Given the description of an element on the screen output the (x, y) to click on. 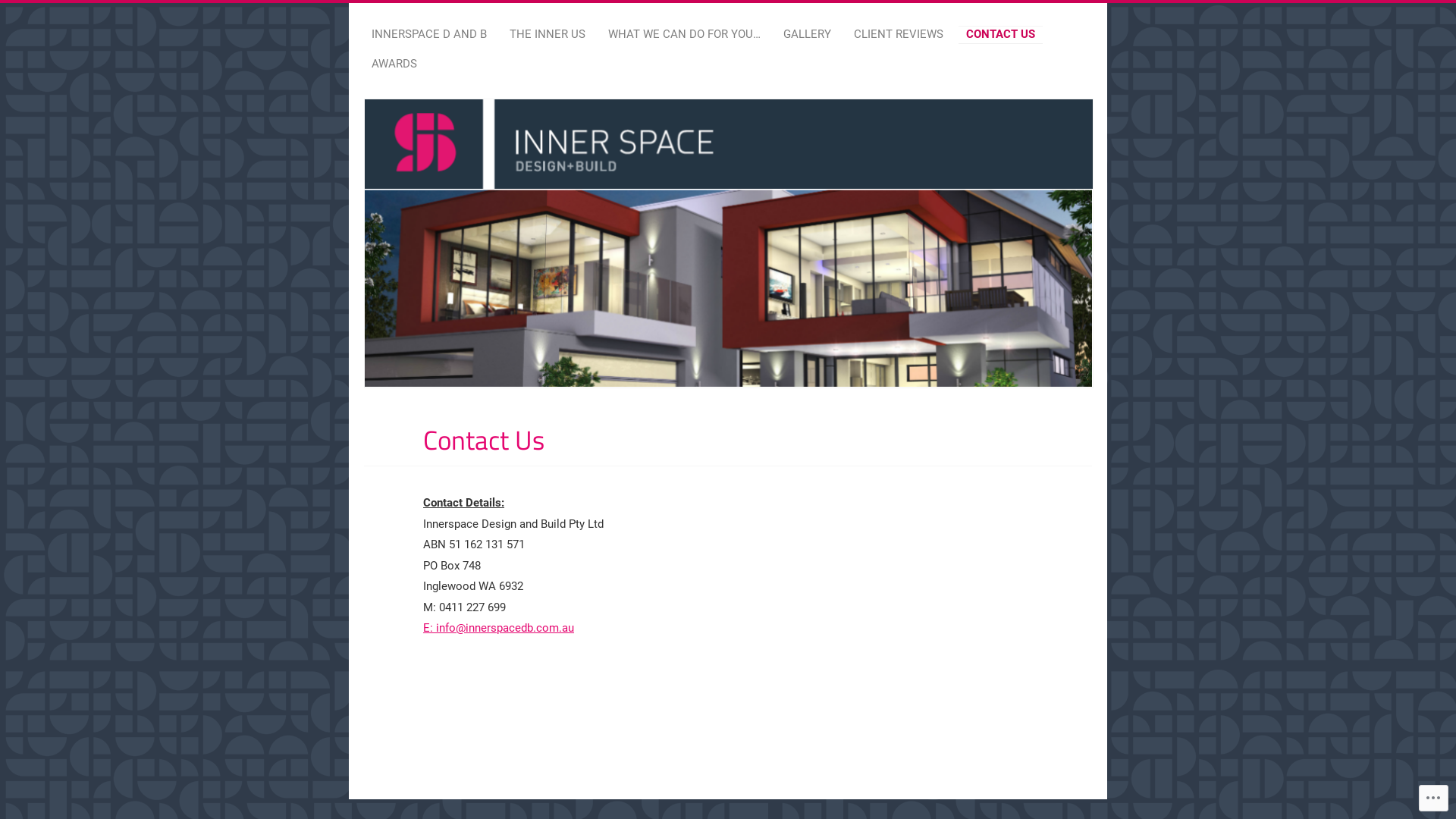
THE INNER US Element type: text (547, 34)
INNERSPACE D AND B Element type: text (429, 34)
E: info@innerspacedb.com.au Element type: text (498, 627)
Like or Reblog Element type: hover (749, 683)
AWARDS Element type: text (394, 64)
CONTACT US Element type: text (1000, 34)
Innerspace Design and Build Pty Ltd Element type: hover (728, 243)
CLIENT REVIEWS Element type: text (898, 34)
GALLERY Element type: text (806, 34)
Innerspace Design and Build Pty Ltd Element type: text (625, 107)
